Given the description of an element on the screen output the (x, y) to click on. 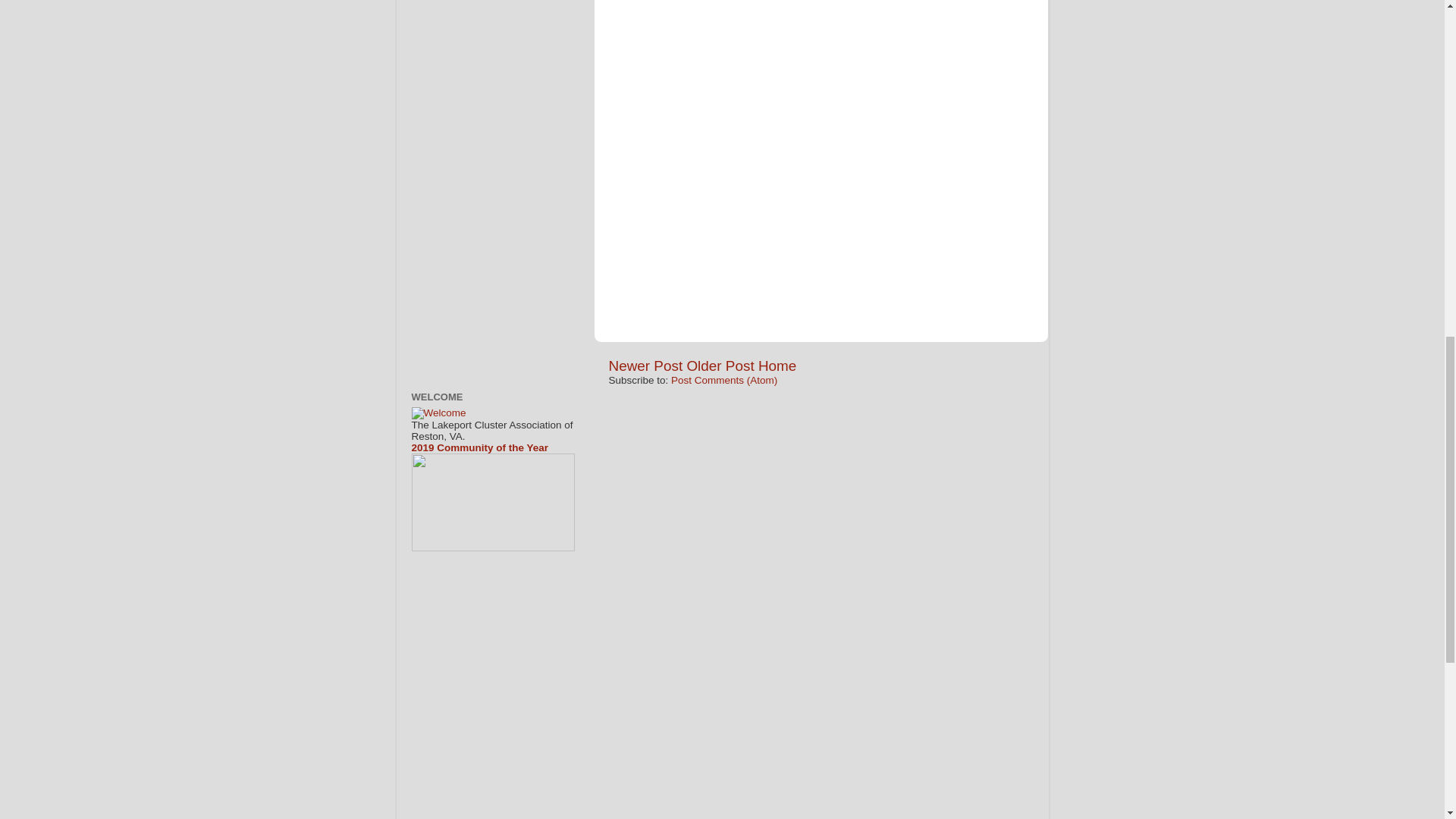
Newer Post (645, 365)
Older Post (719, 365)
2019 Community of the Year (479, 447)
Older Post (719, 365)
Newer Post (645, 365)
Home (777, 365)
